Given the description of an element on the screen output the (x, y) to click on. 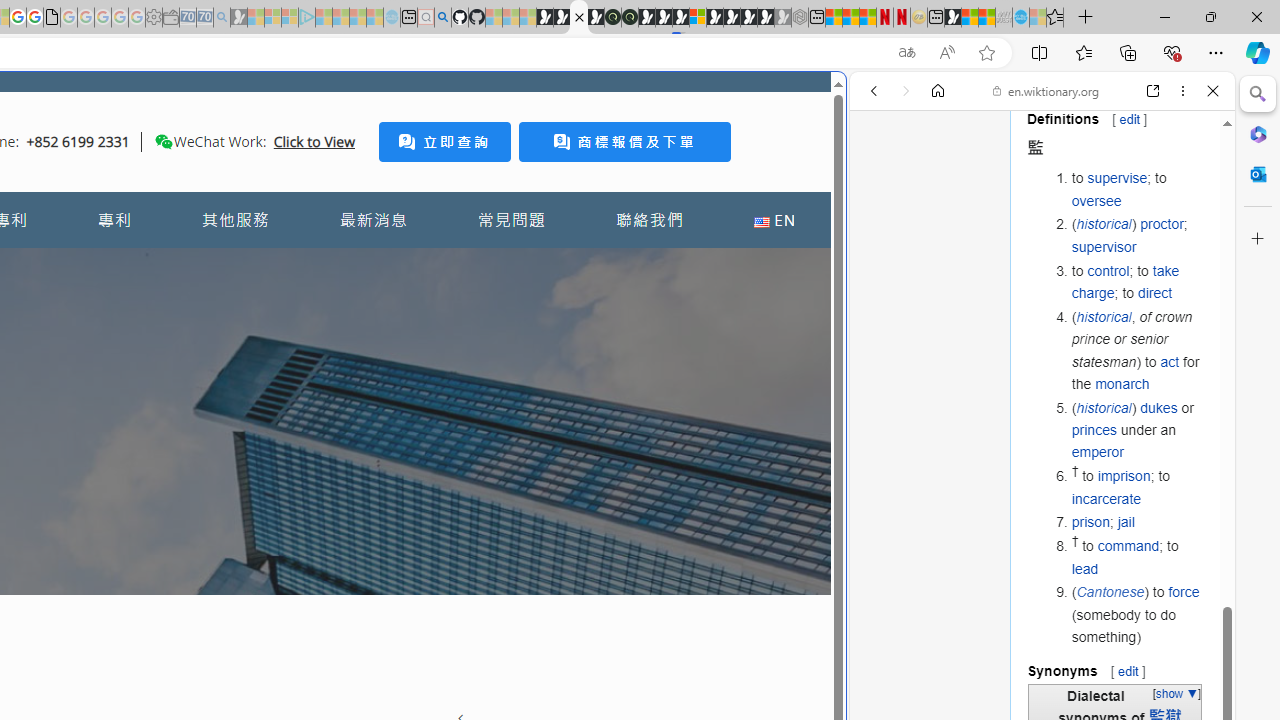
control (1108, 270)
Close Outlook pane (1258, 174)
prison (1090, 522)
EN (774, 220)
Minimize (1164, 16)
Play Free Online Games | Games from Microsoft Start (731, 17)
monarch (1121, 383)
Bing Real Estate - Home sales and rental listings - Sleeping (221, 17)
